Given the description of an element on the screen output the (x, y) to click on. 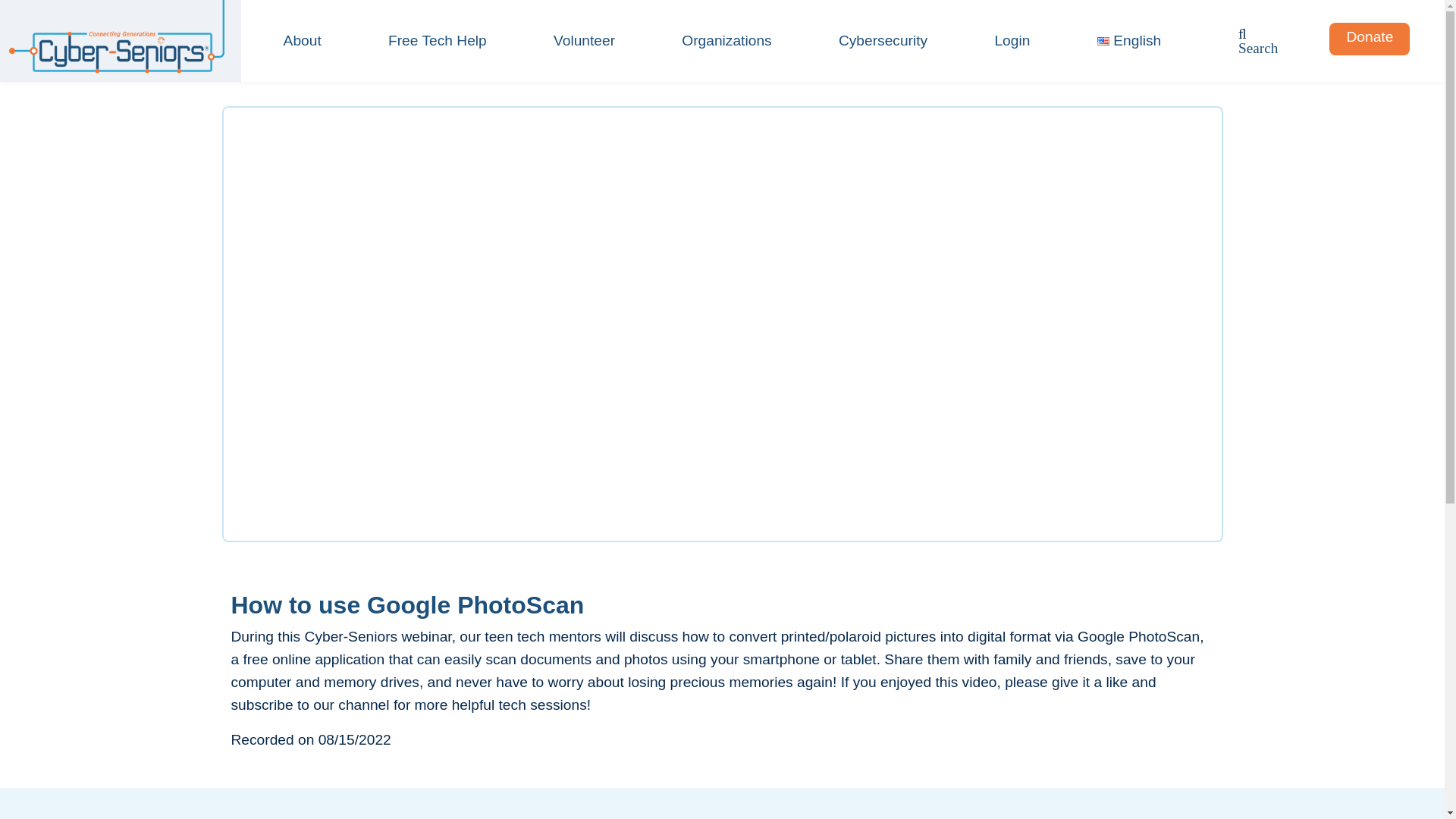
Donate (1369, 36)
Search (1258, 47)
English (1129, 40)
Organizations (726, 40)
Login (1011, 40)
Free Tech Help (437, 40)
Cybersecurity (882, 40)
About (302, 40)
Volunteer (583, 40)
